Given the description of an element on the screen output the (x, y) to click on. 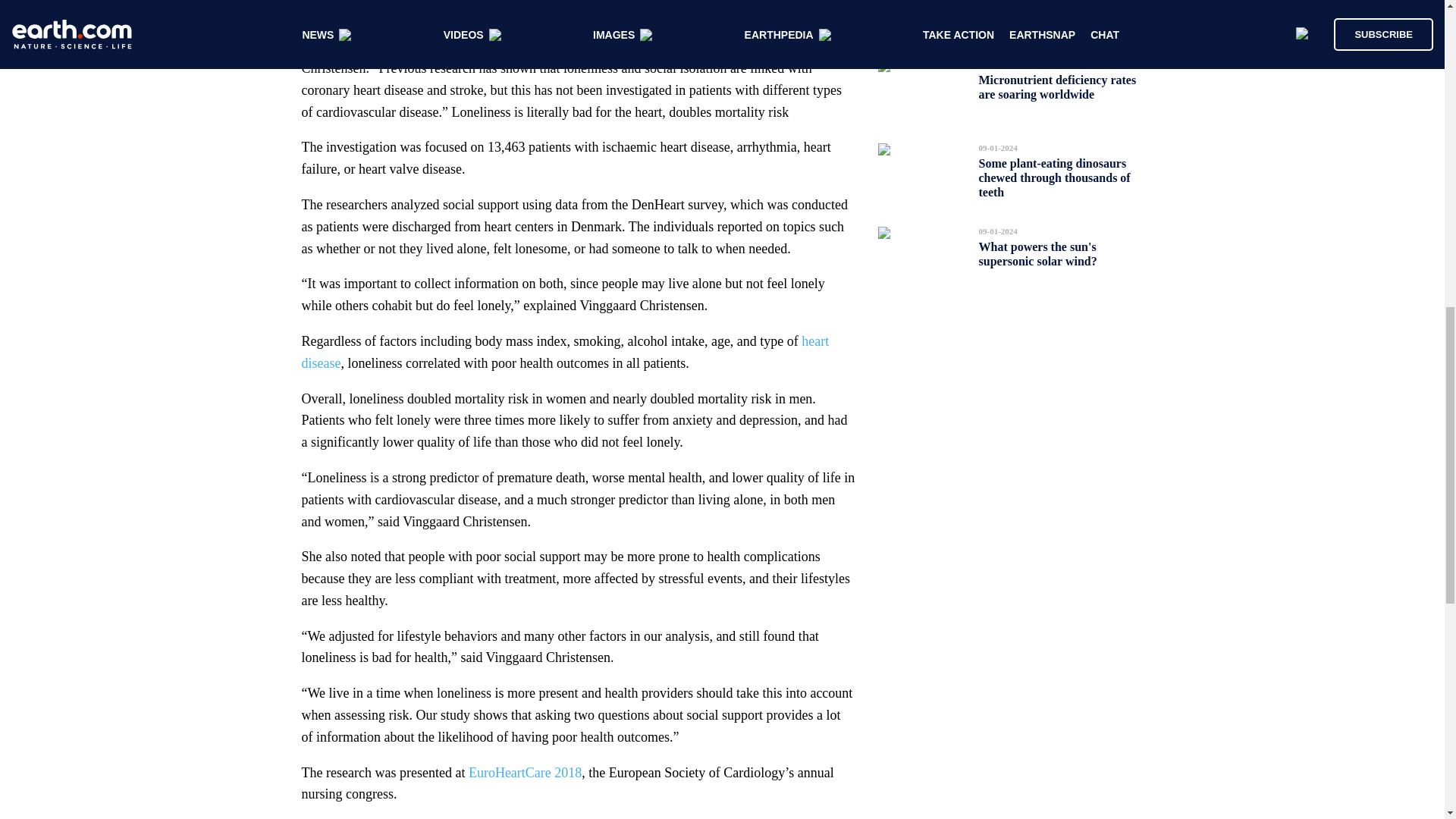
heart disease (565, 352)
Micronutrient deficiency rates are soaring worldwide (1056, 87)
EuroHeartCare 2018 (524, 772)
Food and timber production clash as temperatures rise (1051, 12)
What powers the sun's supersonic solar wind? (1037, 253)
Copenhagen University Hospital (554, 9)
